Given the description of an element on the screen output the (x, y) to click on. 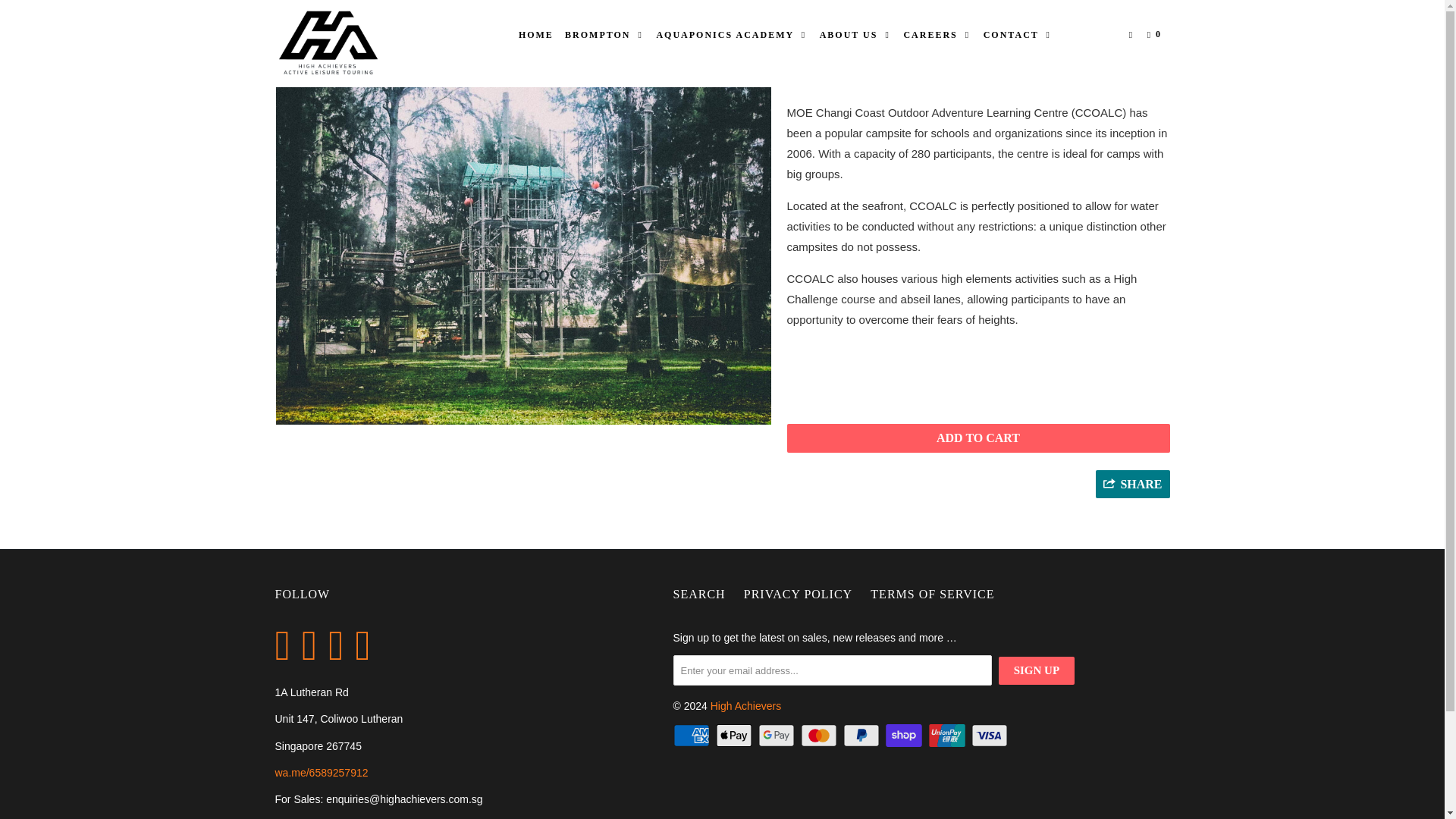
High Achievers (288, 30)
High Achievers (352, 43)
Products (335, 30)
Sign Up (1036, 670)
